Given the description of an element on the screen output the (x, y) to click on. 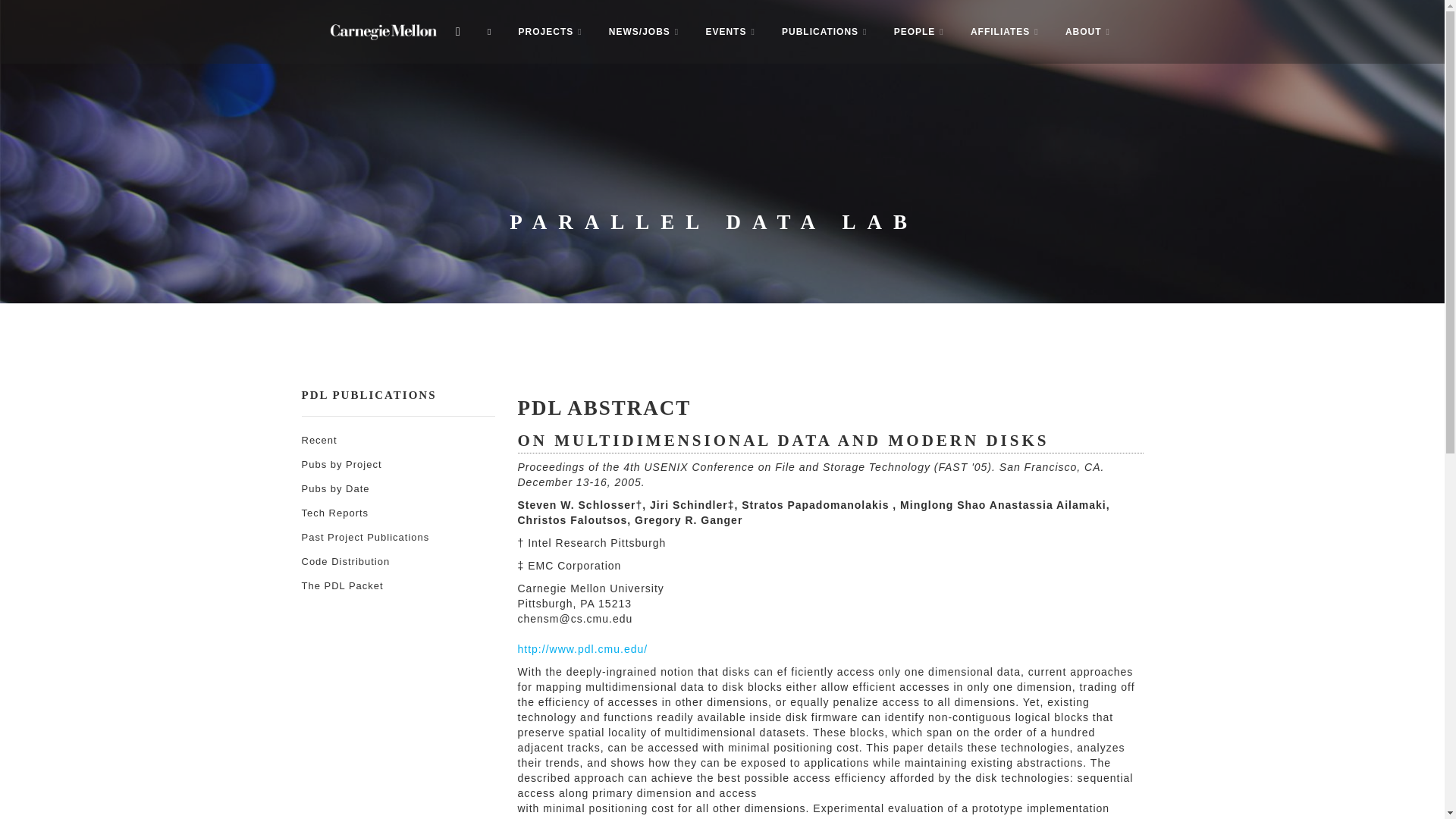
PUBLICATIONS (824, 31)
EVENTS (729, 31)
PROJECTS (550, 31)
